Given the description of an element on the screen output the (x, y) to click on. 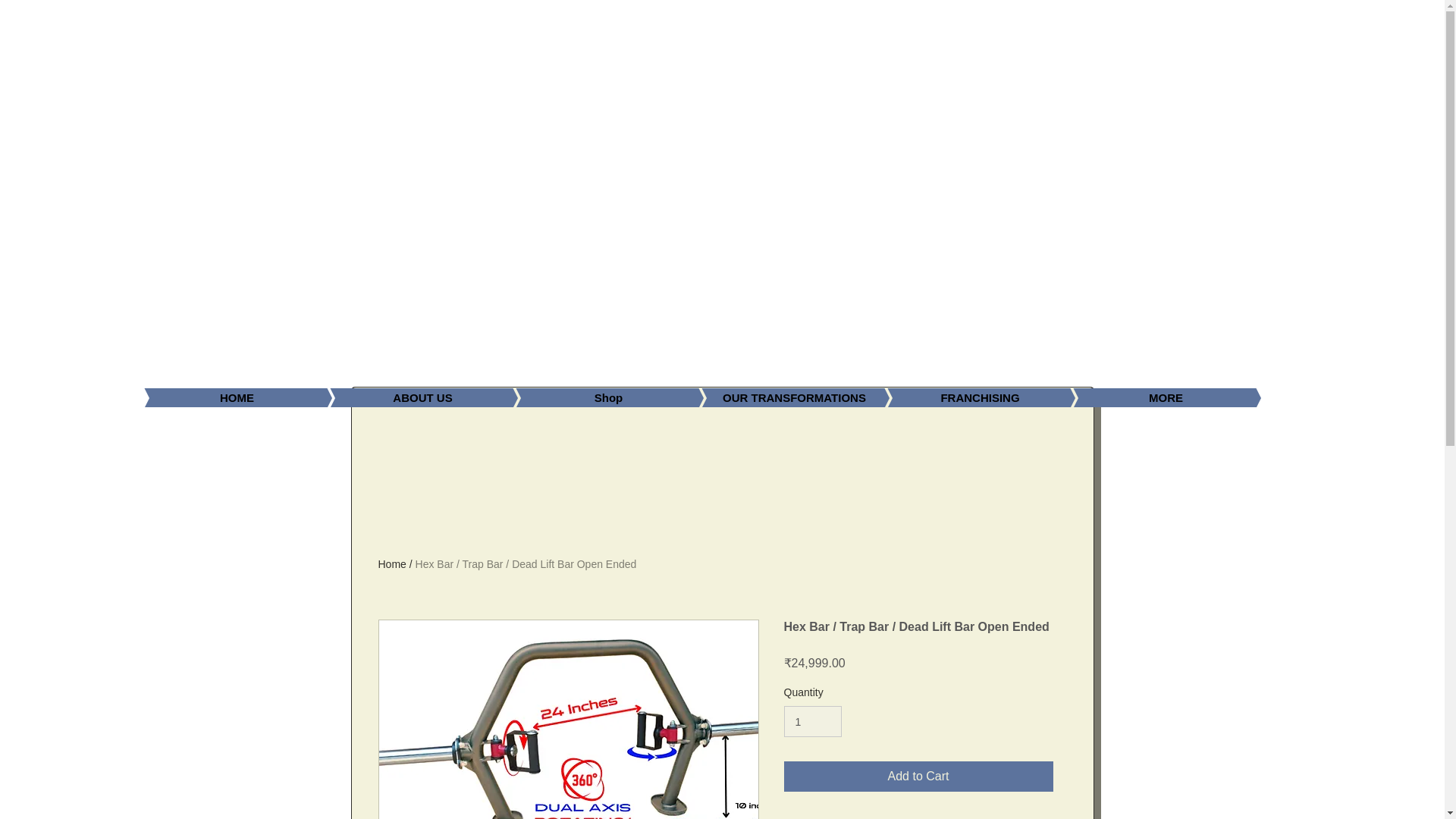
OUR TRANSFORMATIONS (771, 397)
Shop (585, 397)
ABOUT US (400, 397)
HOME (213, 397)
1 (812, 721)
Home (391, 563)
Add to Cart (918, 776)
FRANCHISING (957, 397)
